Given the description of an element on the screen output the (x, y) to click on. 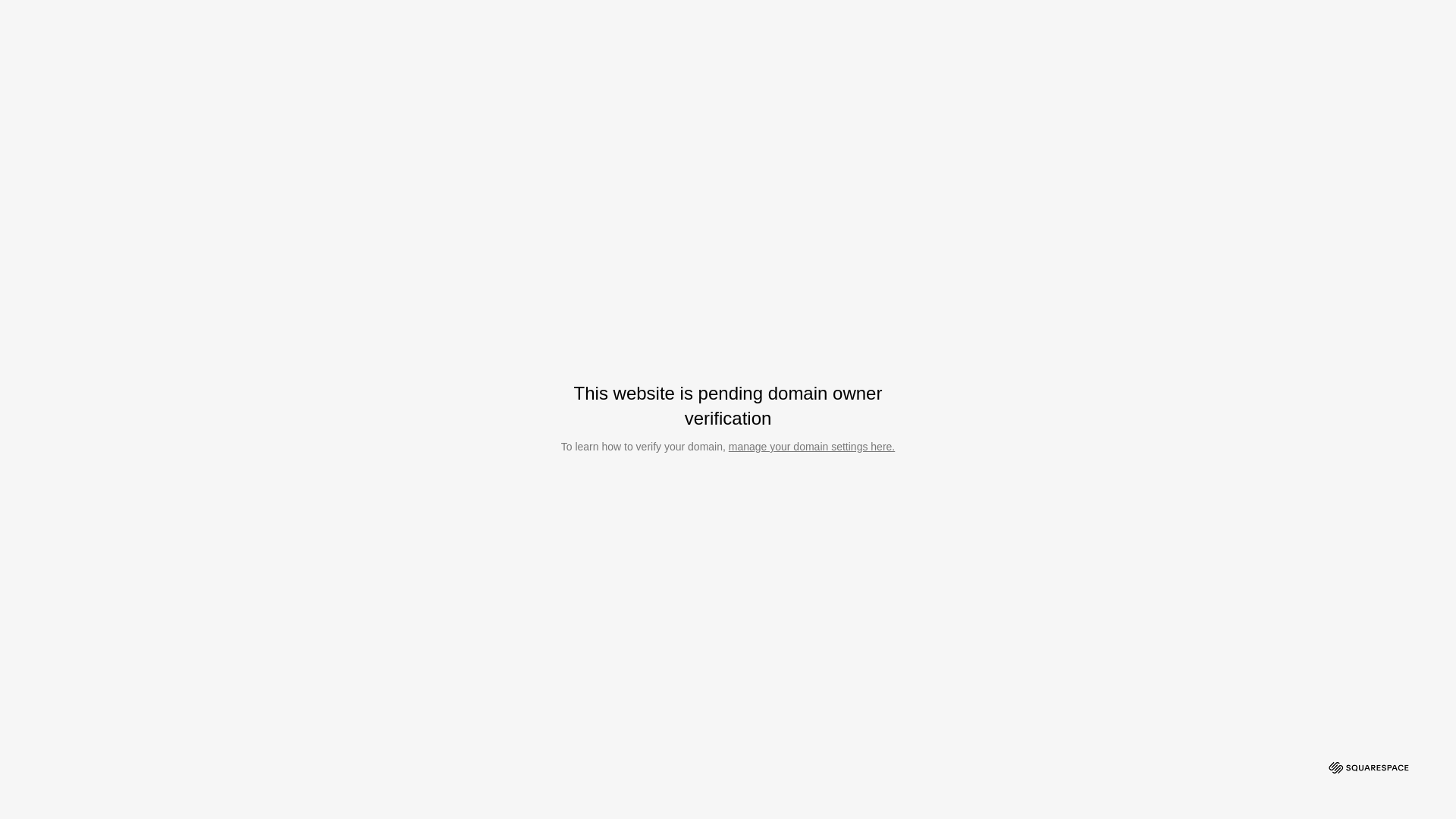
manage your domain settings here. Element type: text (811, 446)
